Given the description of an element on the screen output the (x, y) to click on. 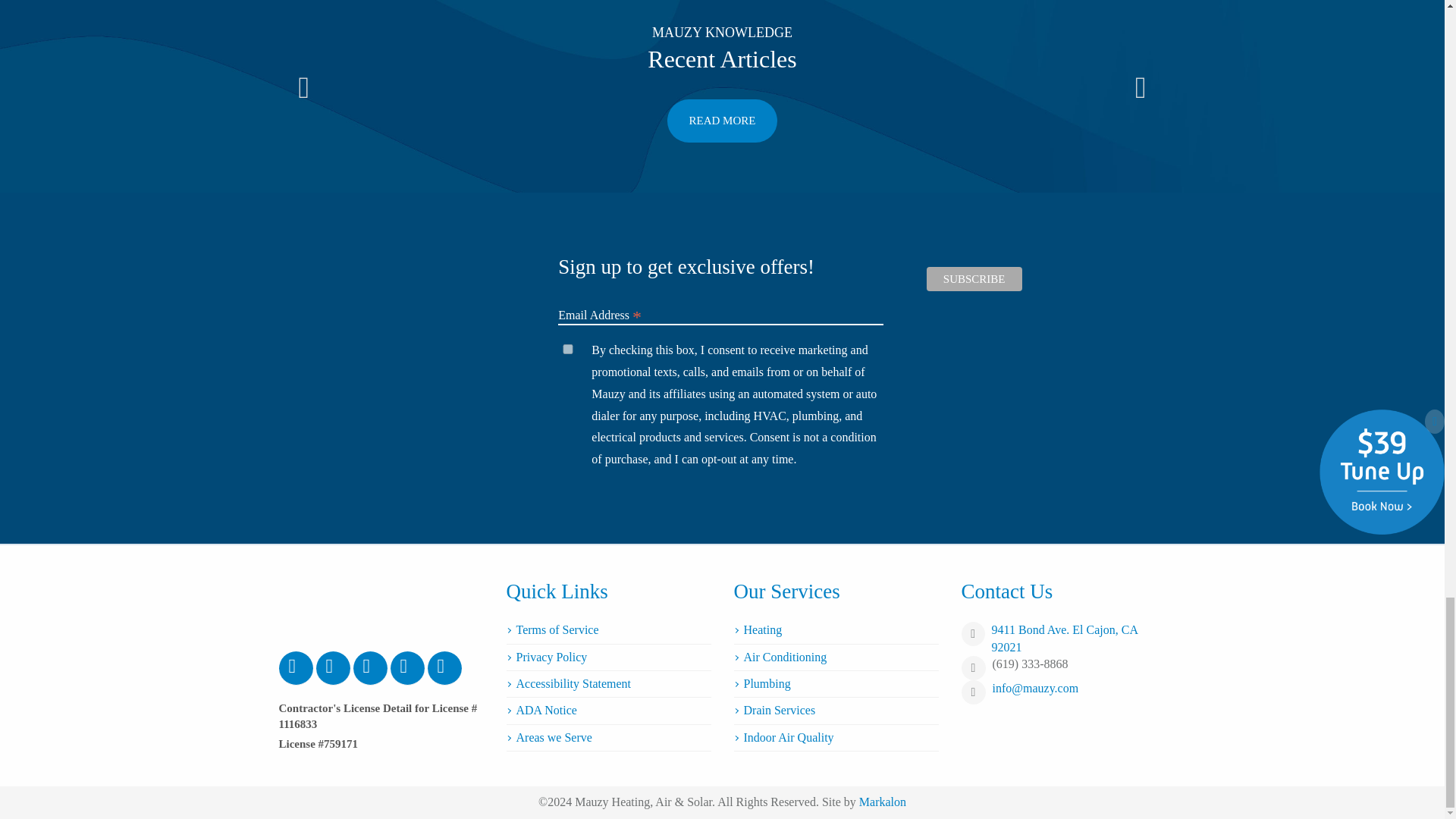
1 (567, 348)
